Given the description of an element on the screen output the (x, y) to click on. 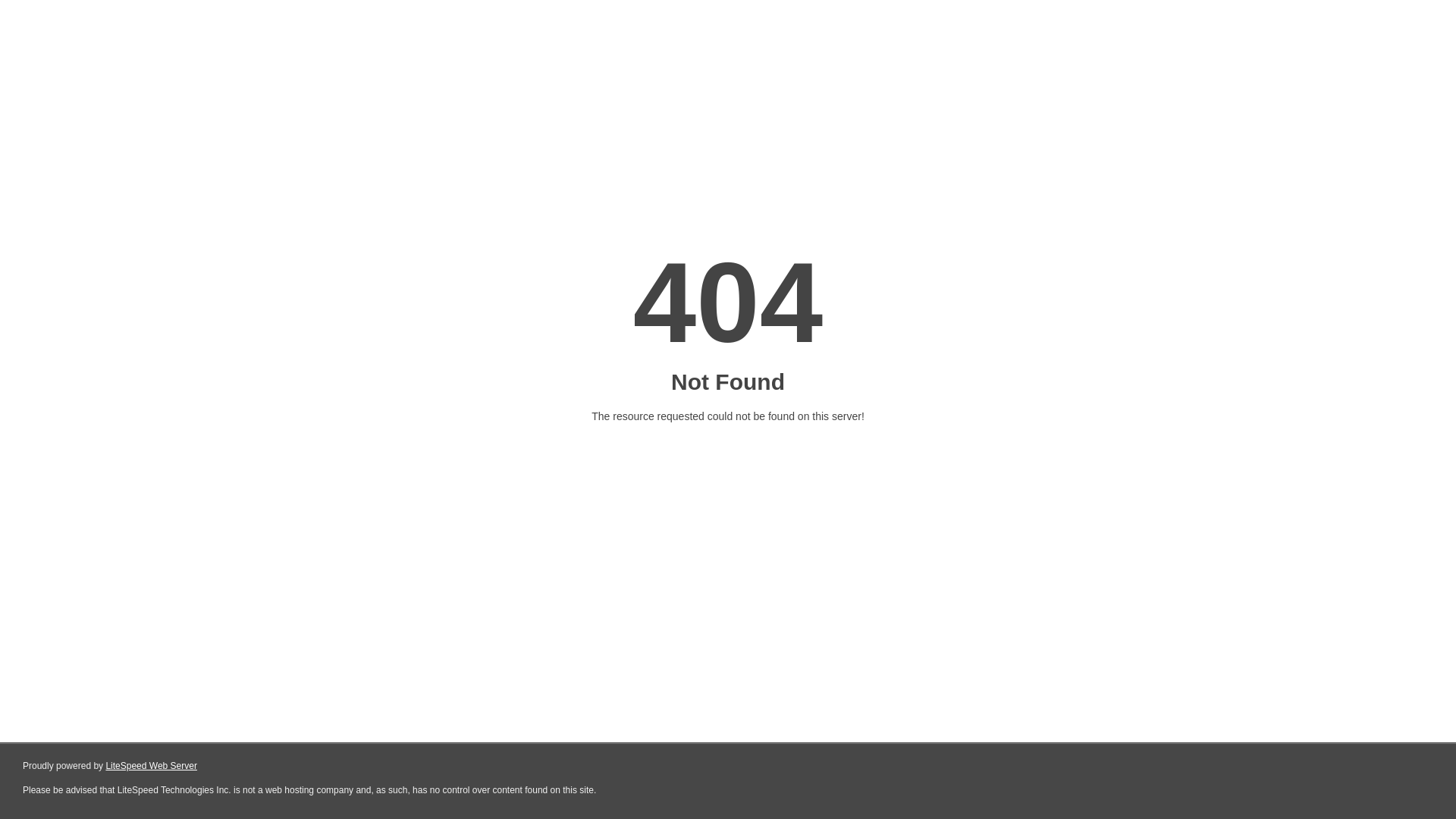
LiteSpeed Web Server Element type: text (151, 765)
